Given the description of an element on the screen output the (x, y) to click on. 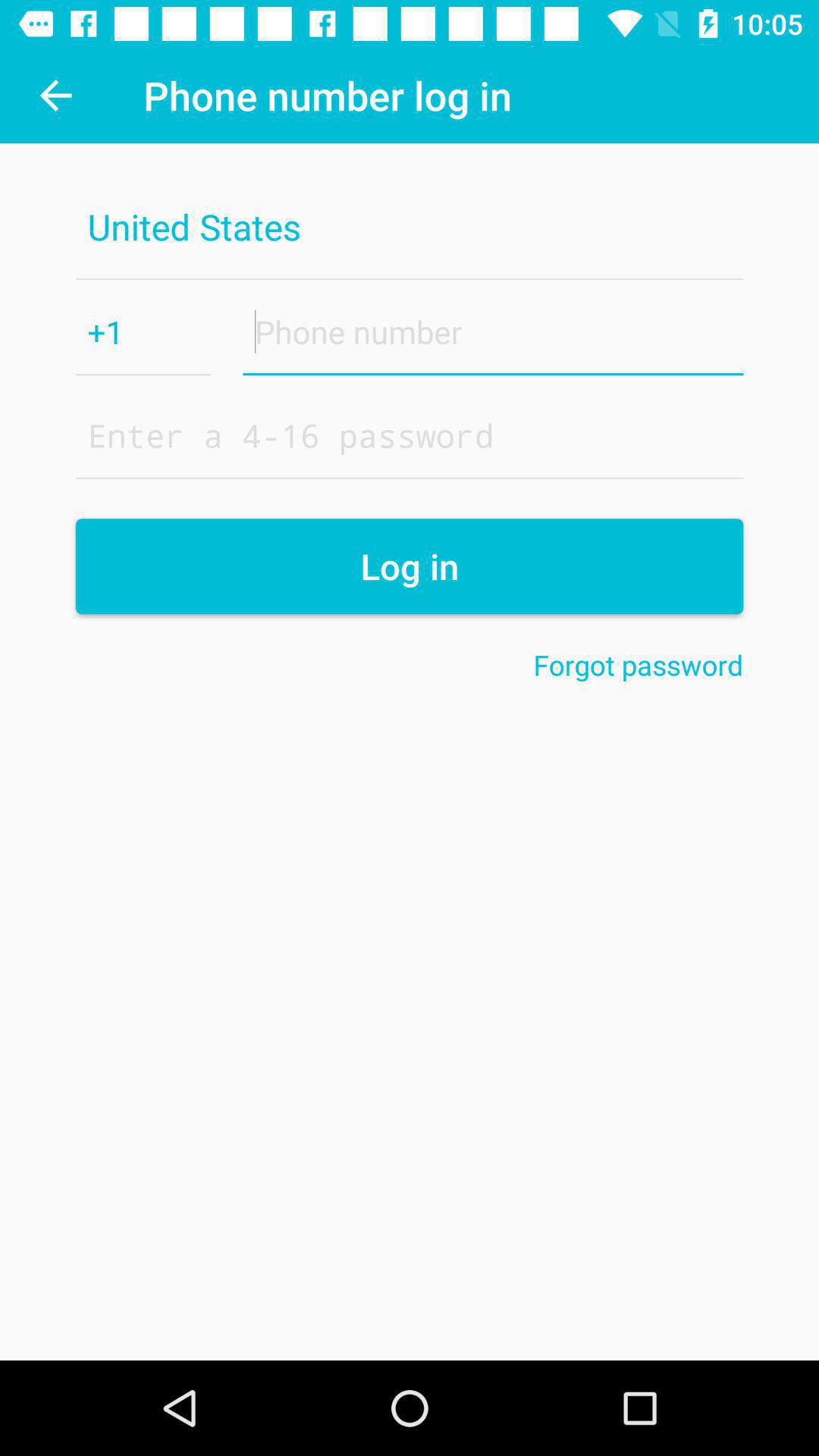
select forgot password on the right (638, 664)
